Given the description of an element on the screen output the (x, y) to click on. 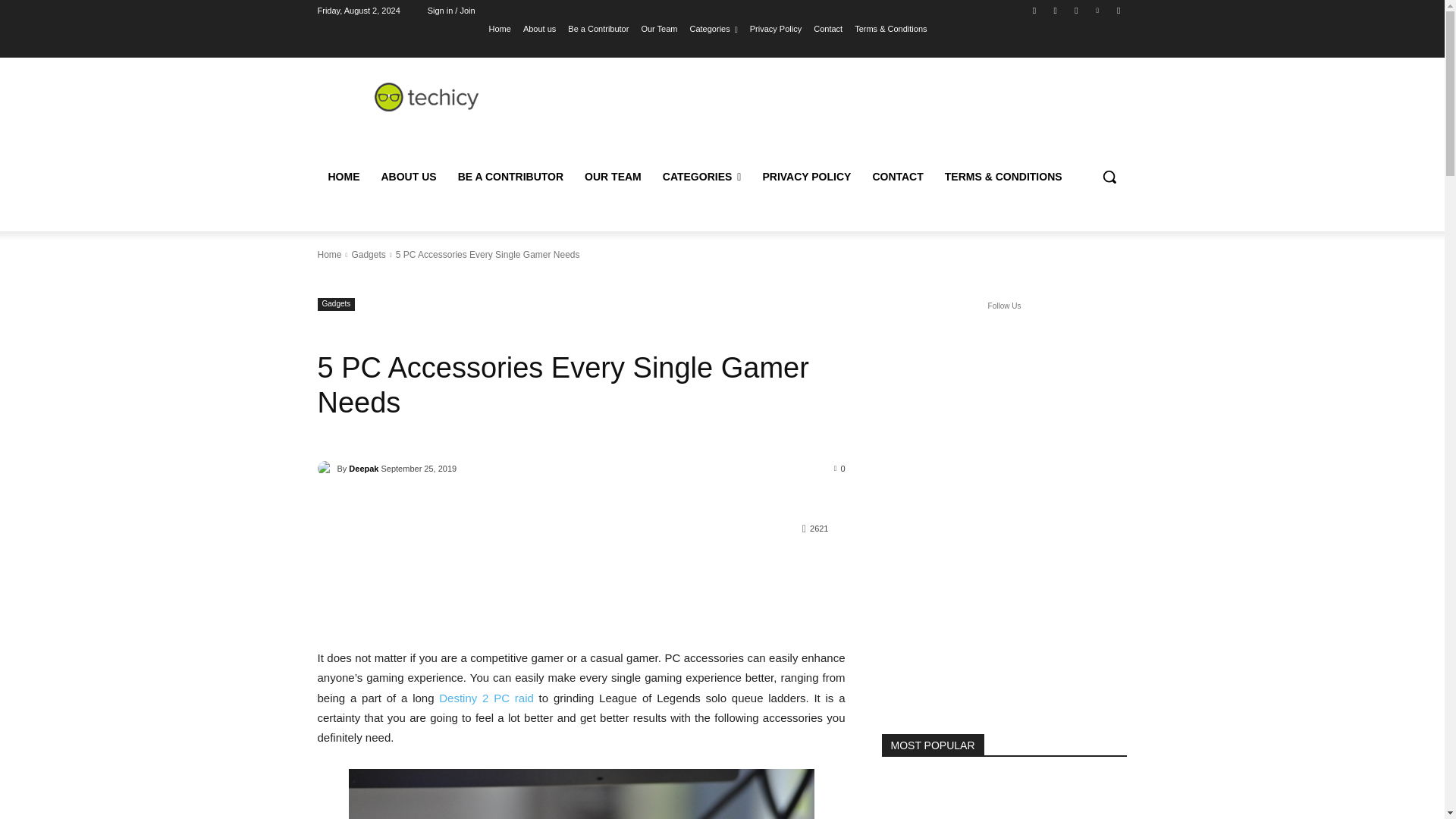
Twitter (1075, 9)
Privacy Policy (775, 28)
Home (500, 28)
Instagram (1055, 9)
Contact (828, 28)
Youtube (1117, 9)
Categories (714, 28)
Facebook (1034, 9)
Vimeo (1097, 9)
About us (539, 28)
